Given the description of an element on the screen output the (x, y) to click on. 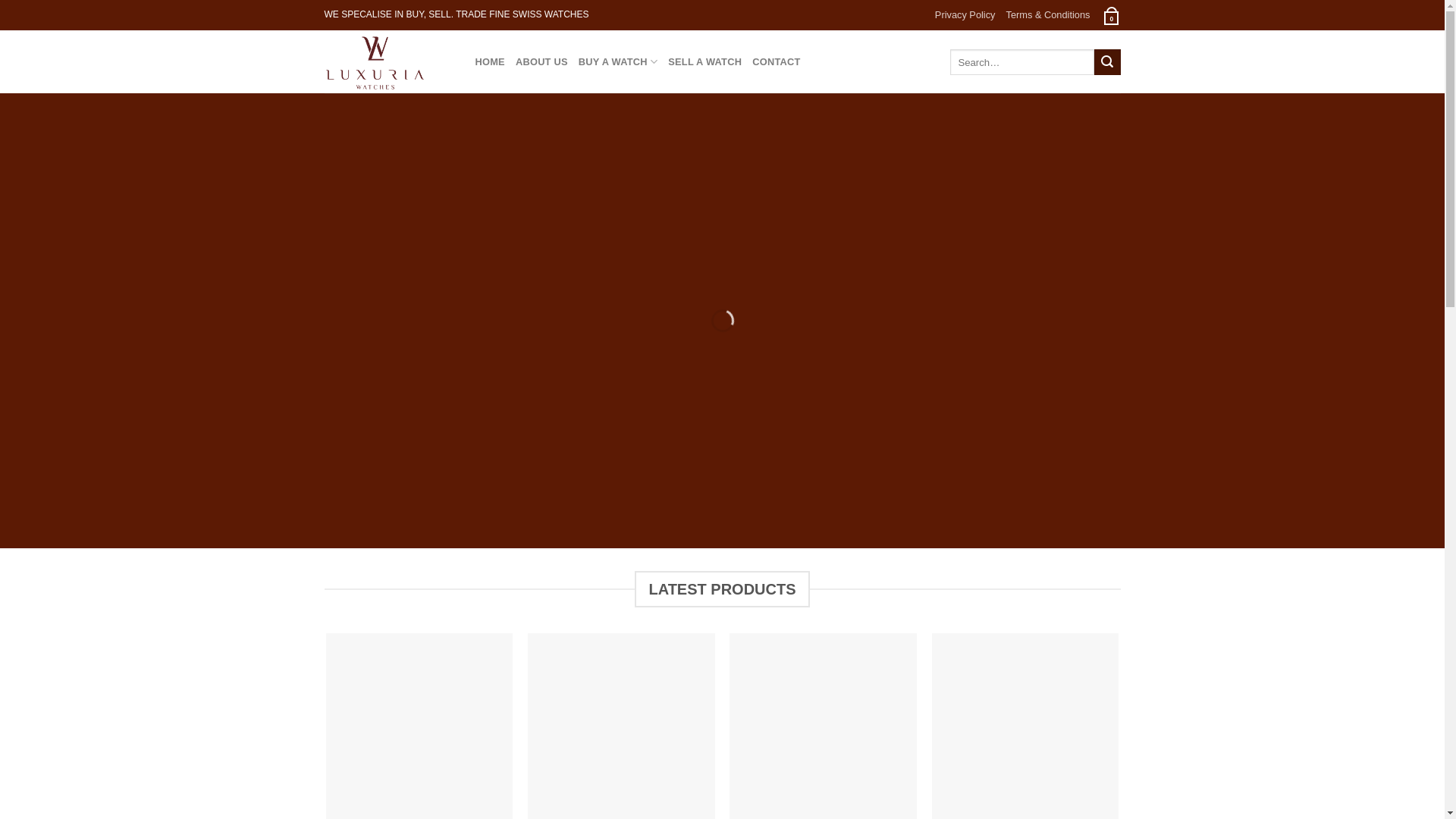
Search Element type: text (1107, 62)
CONTACT Element type: text (776, 62)
Luxuria Watches - Buy, Sell , Trade Swiss Watches Element type: hover (388, 61)
0 Element type: text (1110, 15)
Terms & Conditions Element type: text (1048, 14)
HOME Element type: text (489, 62)
BUY A WATCH Element type: text (617, 62)
SELL A WATCH Element type: text (704, 62)
ABOUT US Element type: text (541, 62)
Privacy Policy Element type: text (965, 14)
